Given the description of an element on the screen output the (x, y) to click on. 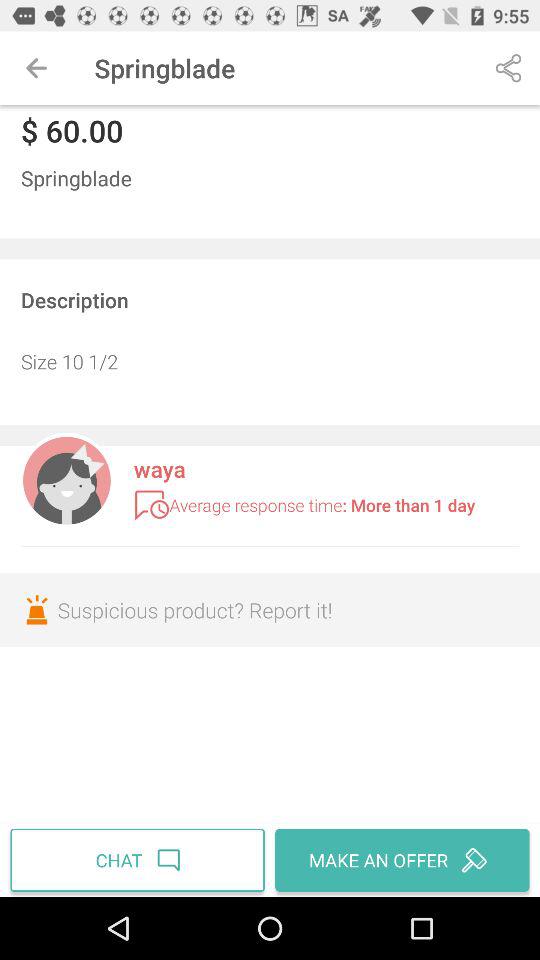
open the icon next to waya (66, 478)
